Given the description of an element on the screen output the (x, y) to click on. 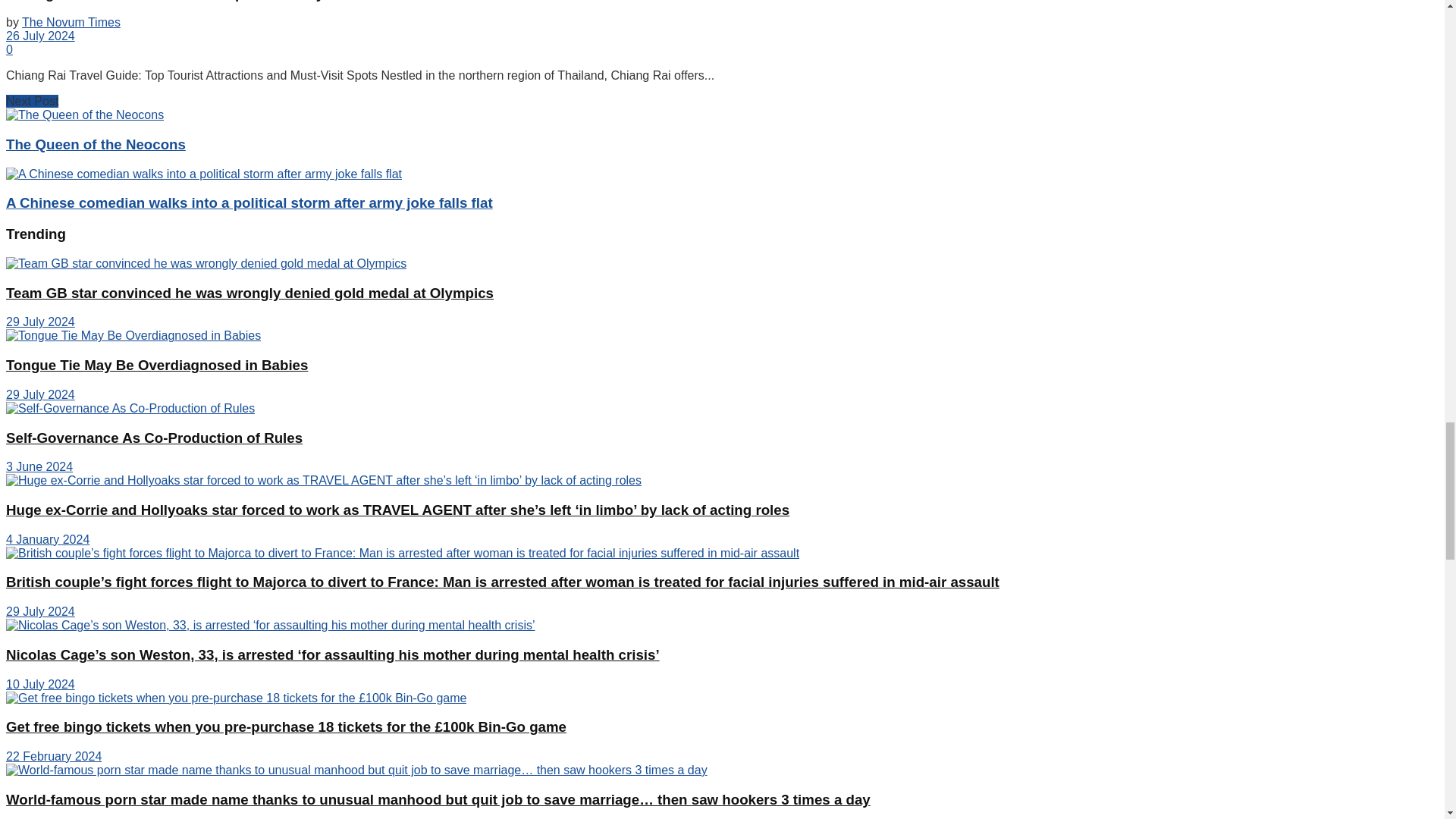
Self-Governance As Co-Production of Rules (129, 408)
Tongue Tie May Be Overdiagnosed in Babies (132, 336)
The Queen of the Neocons (84, 115)
